Given the description of an element on the screen output the (x, y) to click on. 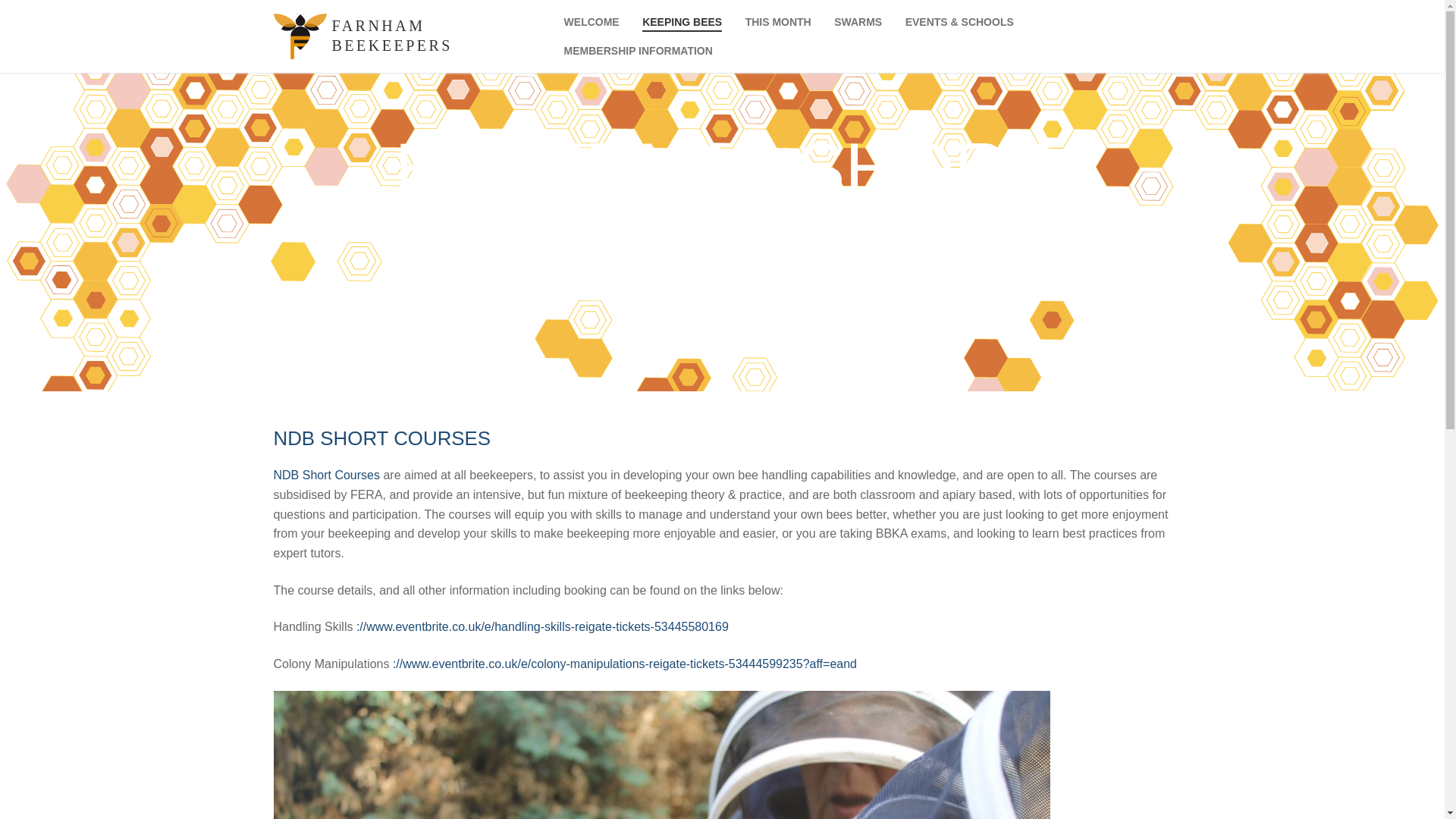
SWARMS (857, 21)
NDB SHORT COURSES (381, 437)
FARNHAM BEEKEEPERS (436, 35)
KEEPING BEES (681, 21)
THIS MONTH (778, 21)
MEMBERSHIP INFORMATION (638, 50)
NDB Short Courses (326, 474)
WELCOME (591, 21)
